Given the description of an element on the screen output the (x, y) to click on. 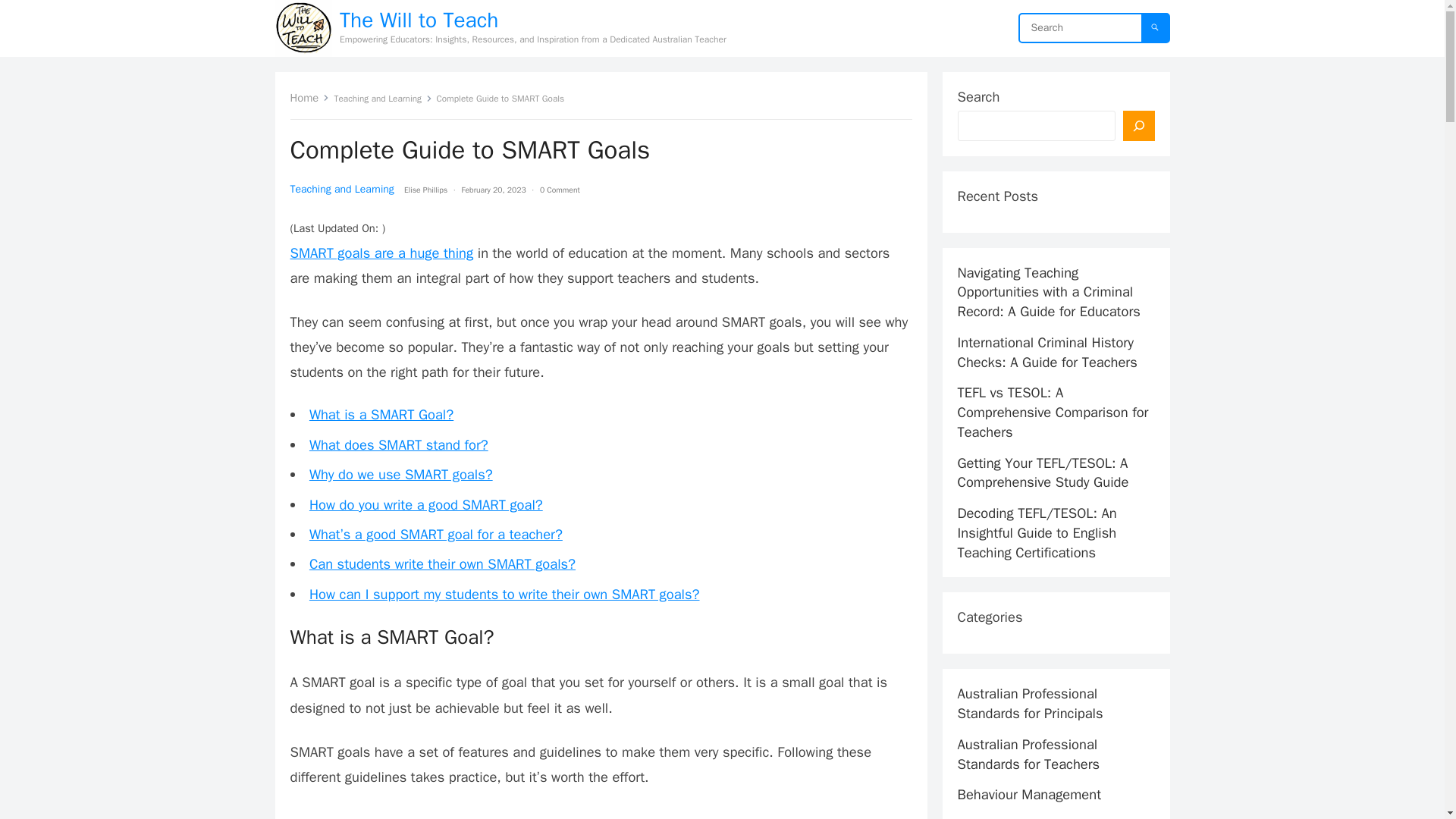
Can students write their own SMART goals? (441, 563)
Teaching and Learning (383, 98)
How do you write a good SMART goal? (425, 504)
Teaching and Learning (341, 188)
SMART goals are a huge thing (381, 252)
What is a SMART Goal? (380, 414)
SMART Goals - Complete Guide for Teachers (600, 813)
Home (309, 97)
Posts by Elise Phillips (425, 189)
